Given the description of an element on the screen output the (x, y) to click on. 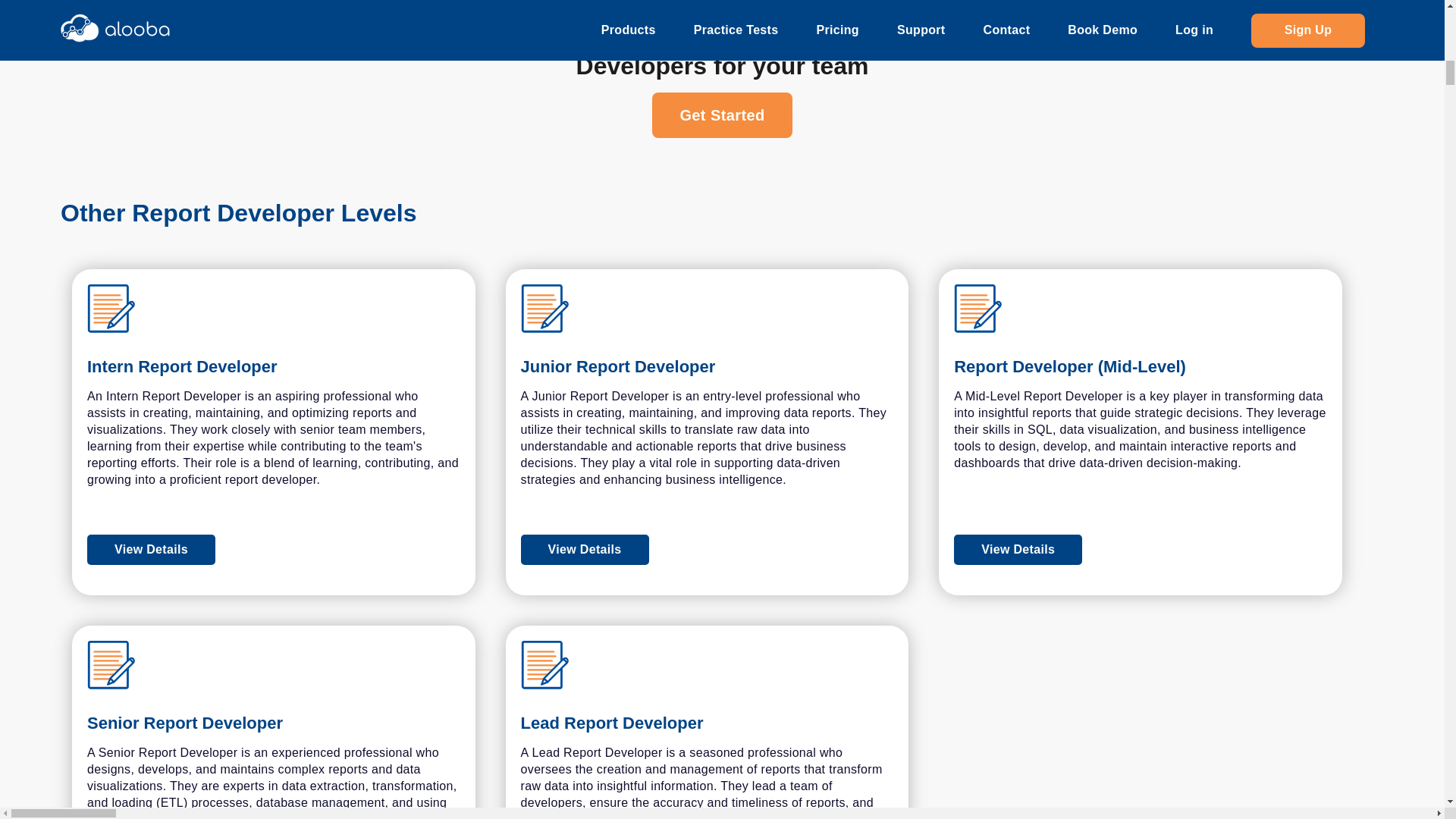
Get Started (722, 115)
View Details (151, 549)
View Details (1017, 549)
View Details (1139, 549)
Get Started (722, 115)
View Details (707, 549)
View Details (273, 549)
View Details (585, 549)
